Given the description of an element on the screen output the (x, y) to click on. 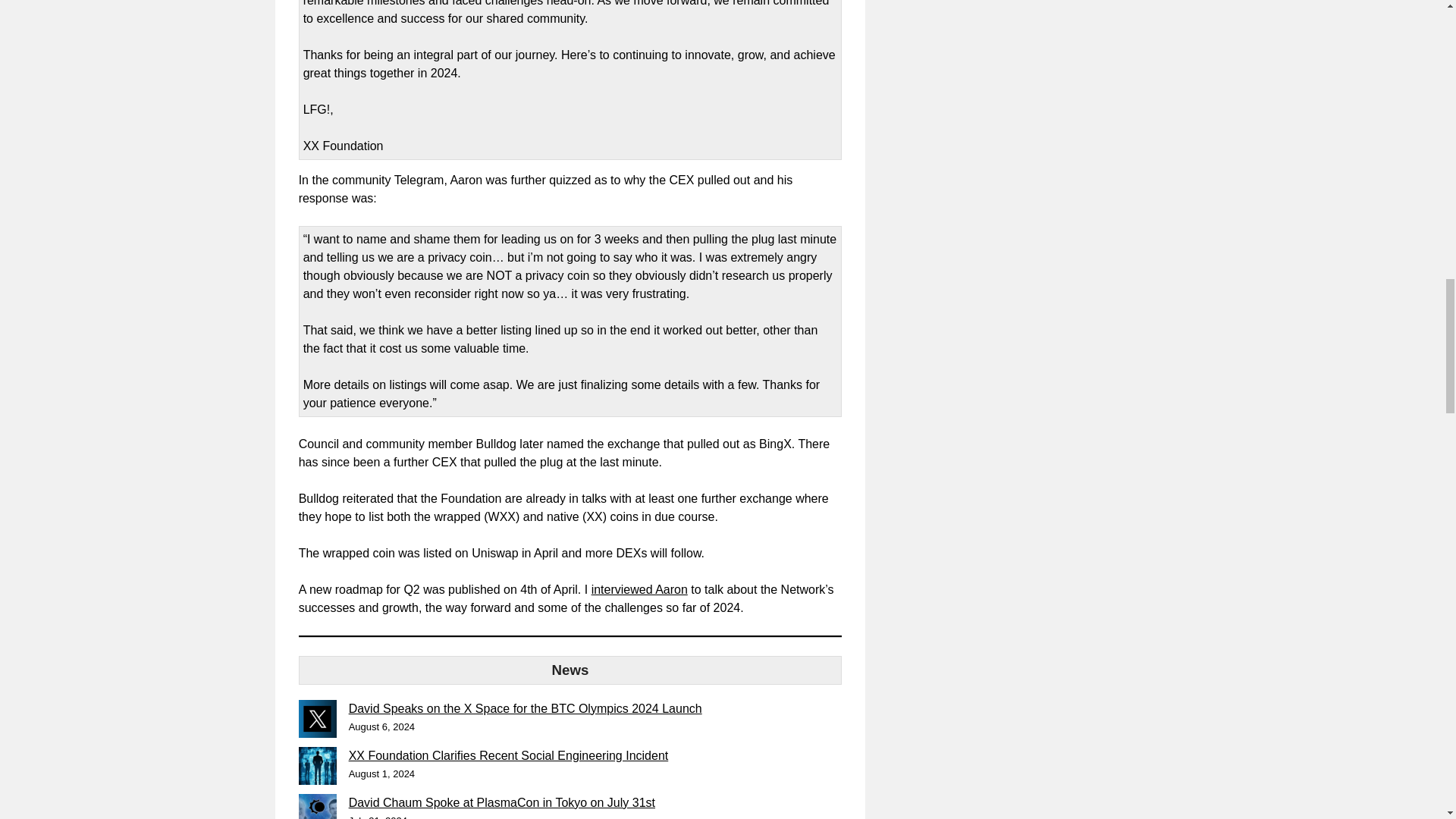
David Speaks on the X Space for the BTC Olympics 2024 Launch (525, 707)
XX Foundation Clarifies Recent Social Engineering Incident (508, 755)
David Chaum Spoke at PlasmaCon in Tokyo on July 31st (502, 802)
interviewed Aaron (639, 588)
